Given the description of an element on the screen output the (x, y) to click on. 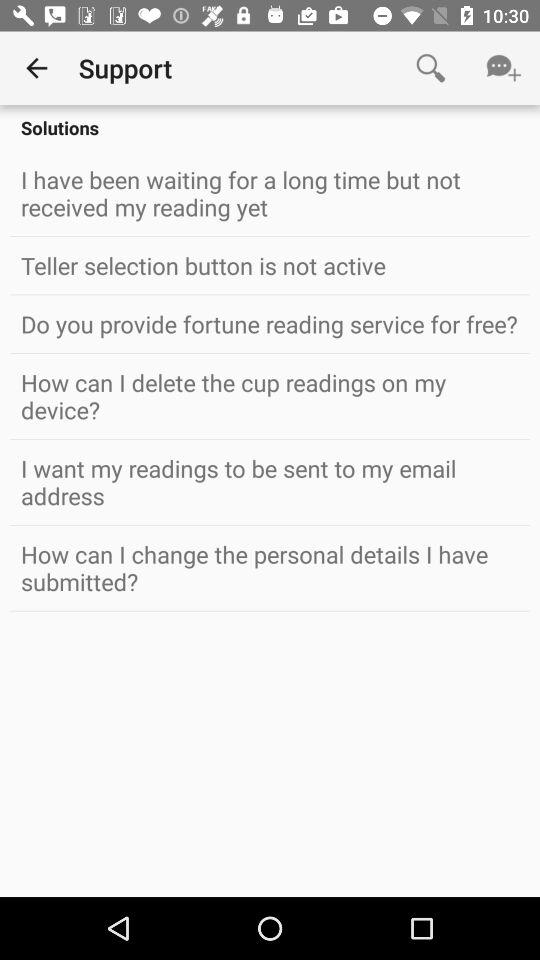
tap icon above solutions item (36, 68)
